Given the description of an element on the screen output the (x, y) to click on. 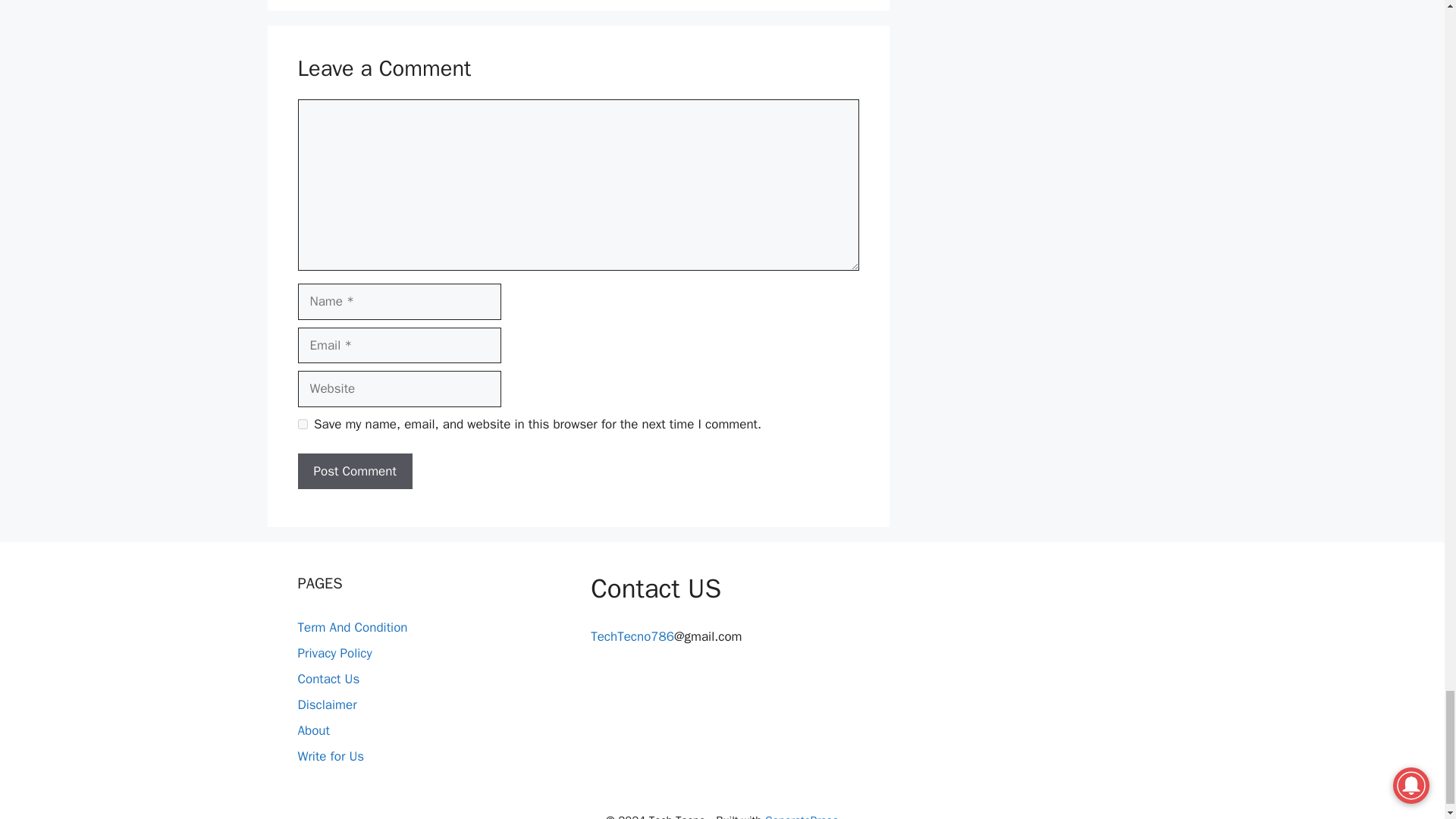
Post Comment (354, 471)
Post Comment (354, 471)
yes (302, 424)
